Given the description of an element on the screen output the (x, y) to click on. 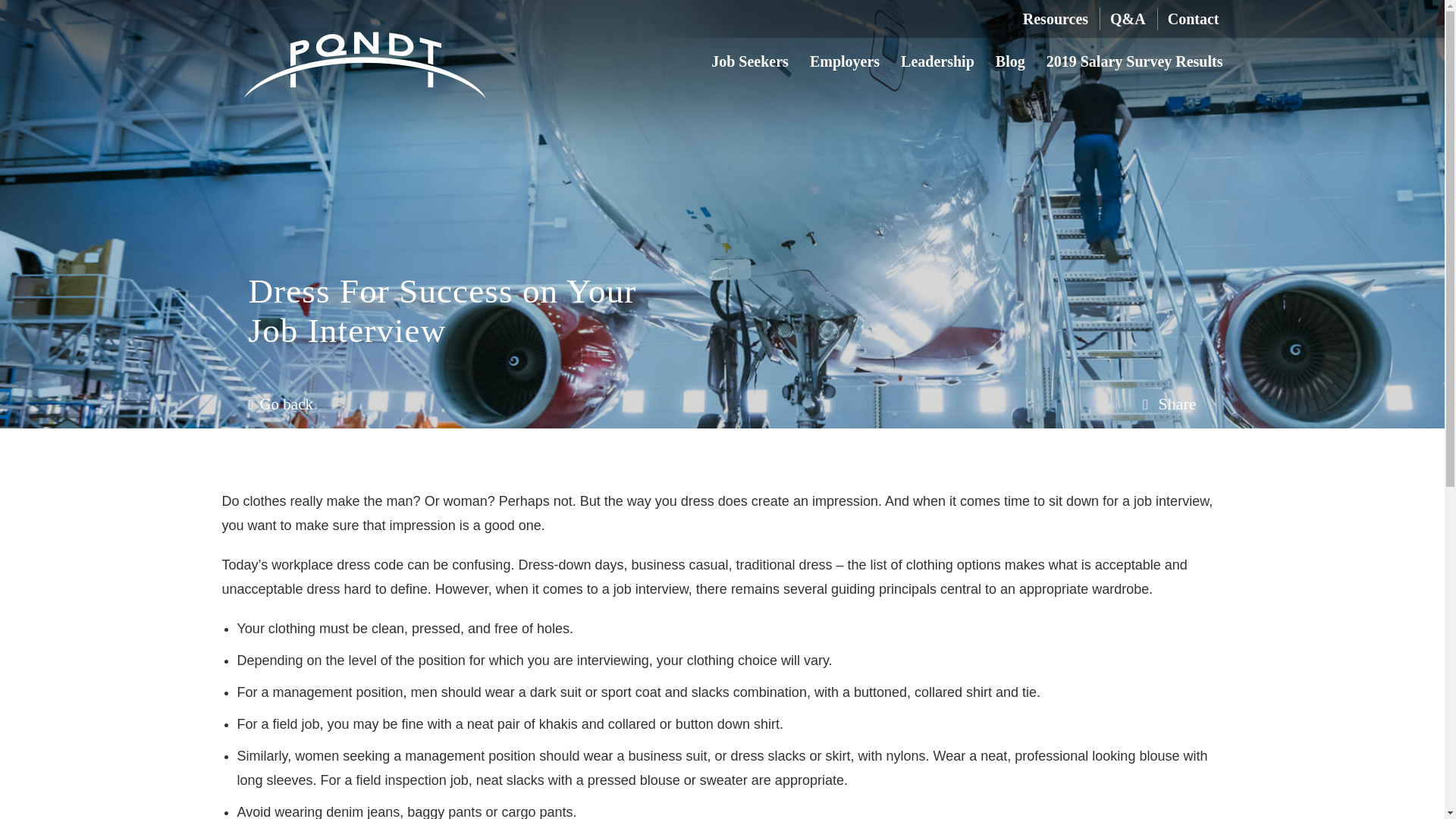
Resources (1055, 18)
Blog (1010, 64)
Share (1169, 403)
Contact (1193, 18)
Job Seekers (750, 64)
Employers (844, 64)
Go back (281, 403)
2019 Salary Survey Results (1134, 64)
More (1169, 403)
Leadership (937, 64)
